Given the description of an element on the screen output the (x, y) to click on. 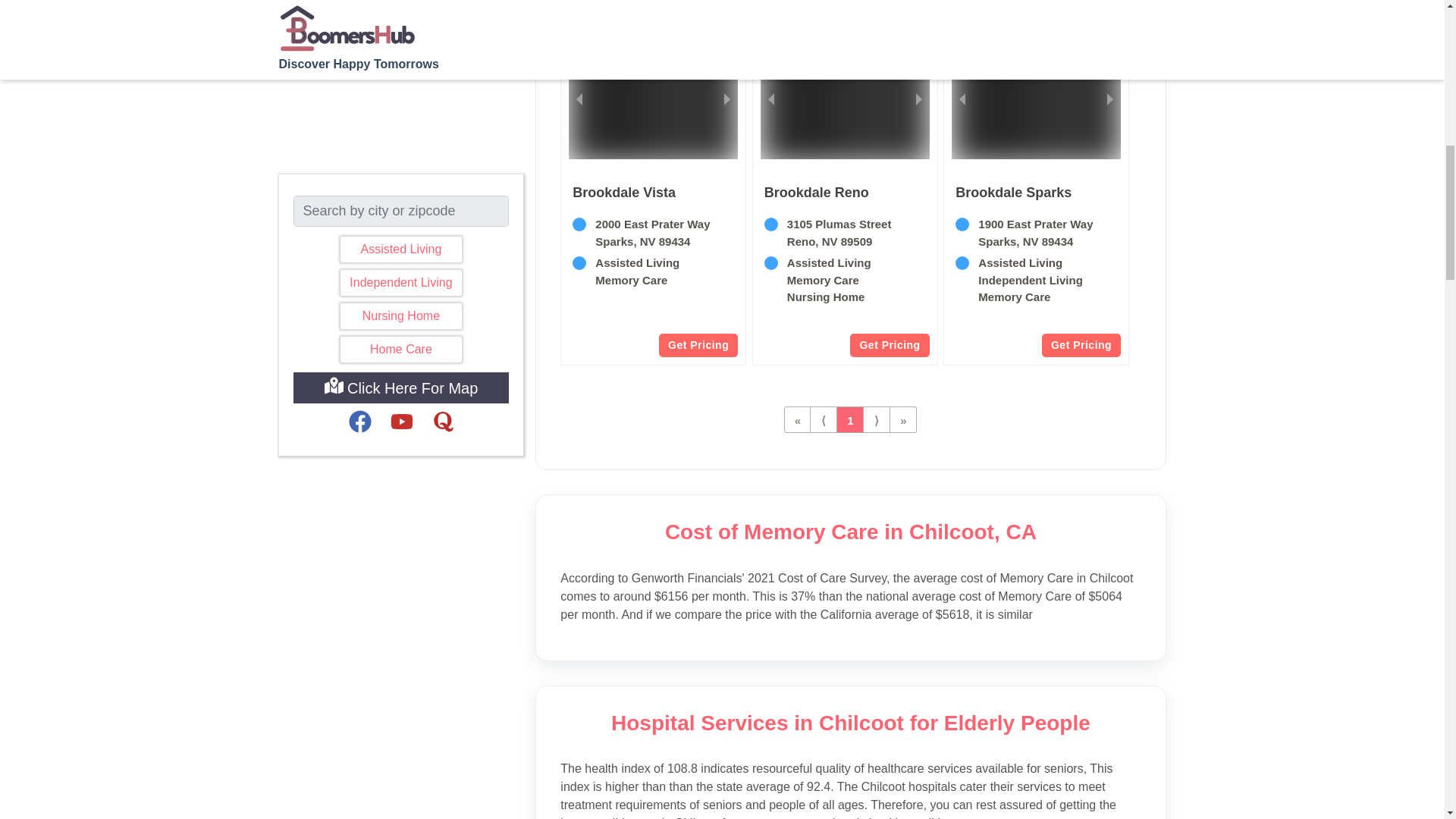
Brookdale Vista,Sparks,NV (623, 192)
Brookdale Sparks,Sparks,NV (1036, 269)
Get Pricing (1081, 345)
Brookdale Reno,Reno,NV (816, 192)
Brookdale Vista,Sparks,NV (653, 269)
Brookdale Reno,Reno,NV (845, 269)
Get Pricing (889, 345)
Get Pricing (698, 345)
